Given the description of an element on the screen output the (x, y) to click on. 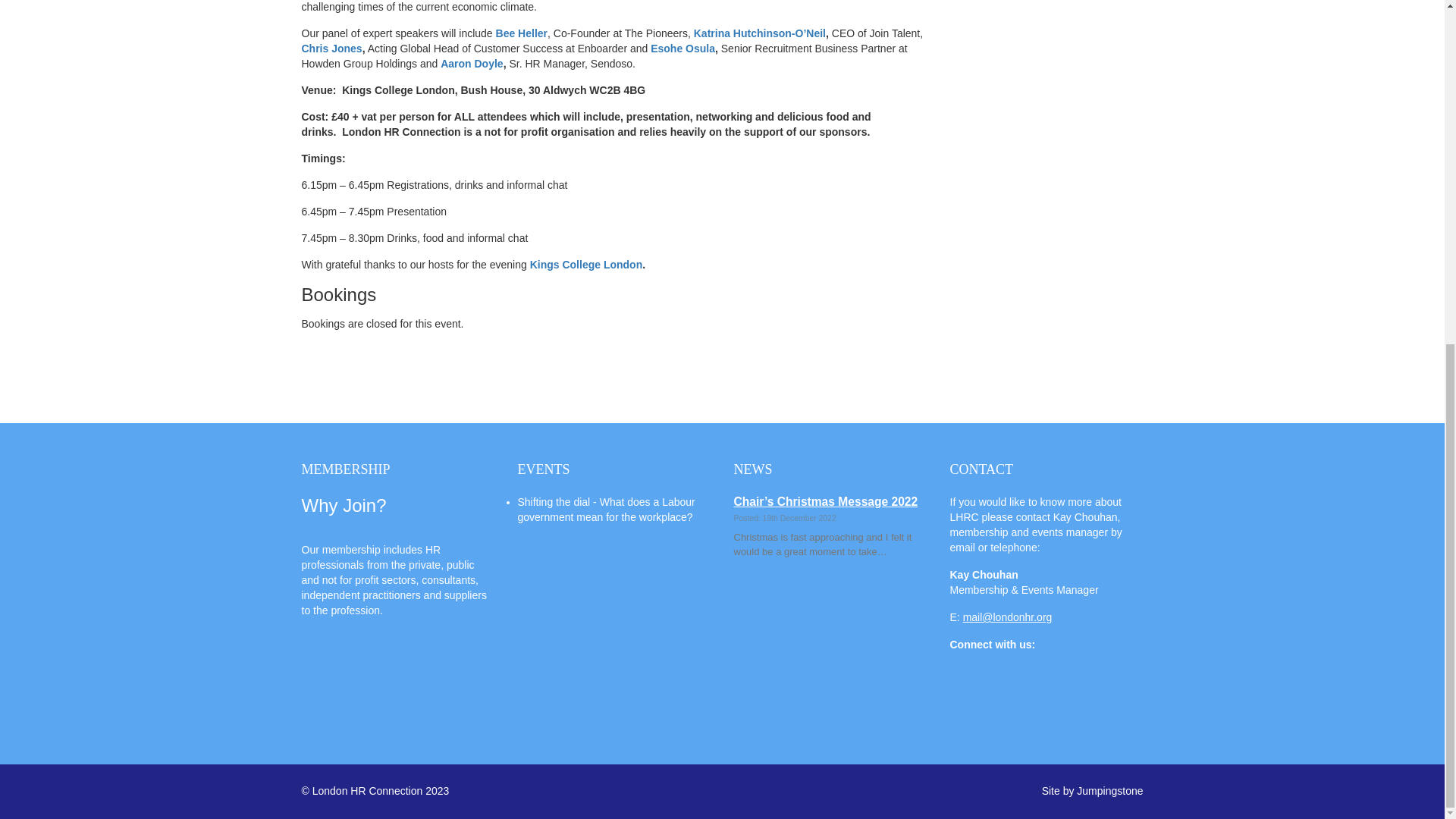
Aaron Doyle (471, 63)
linkedin (974, 690)
Kings College London (586, 264)
Bee Heller (521, 33)
Chris Jones (331, 48)
twitter (1026, 690)
Esohe Osula (682, 48)
